Given the description of an element on the screen output the (x, y) to click on. 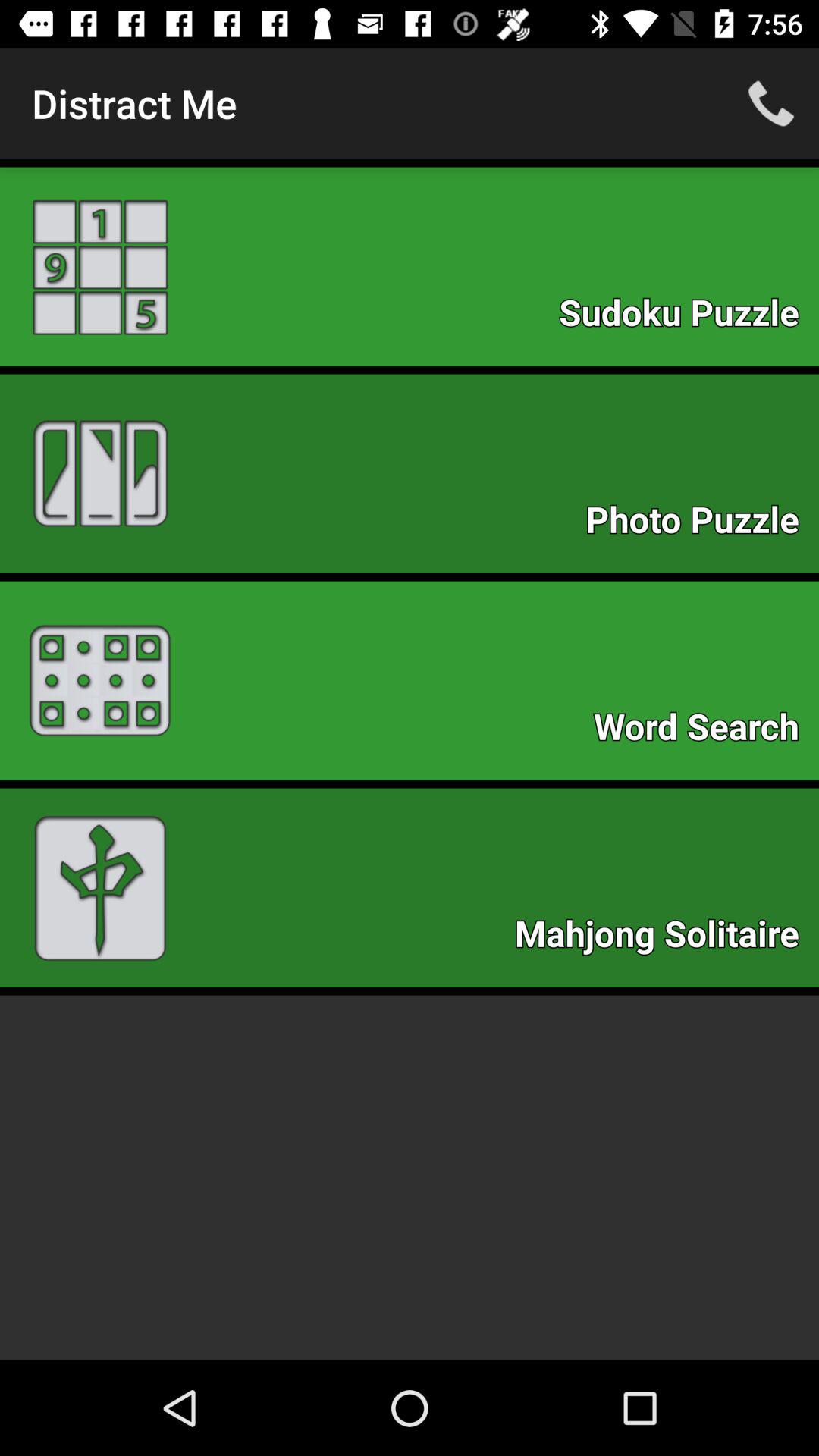
flip until sudoku puzzle (686, 316)
